Given the description of an element on the screen output the (x, y) to click on. 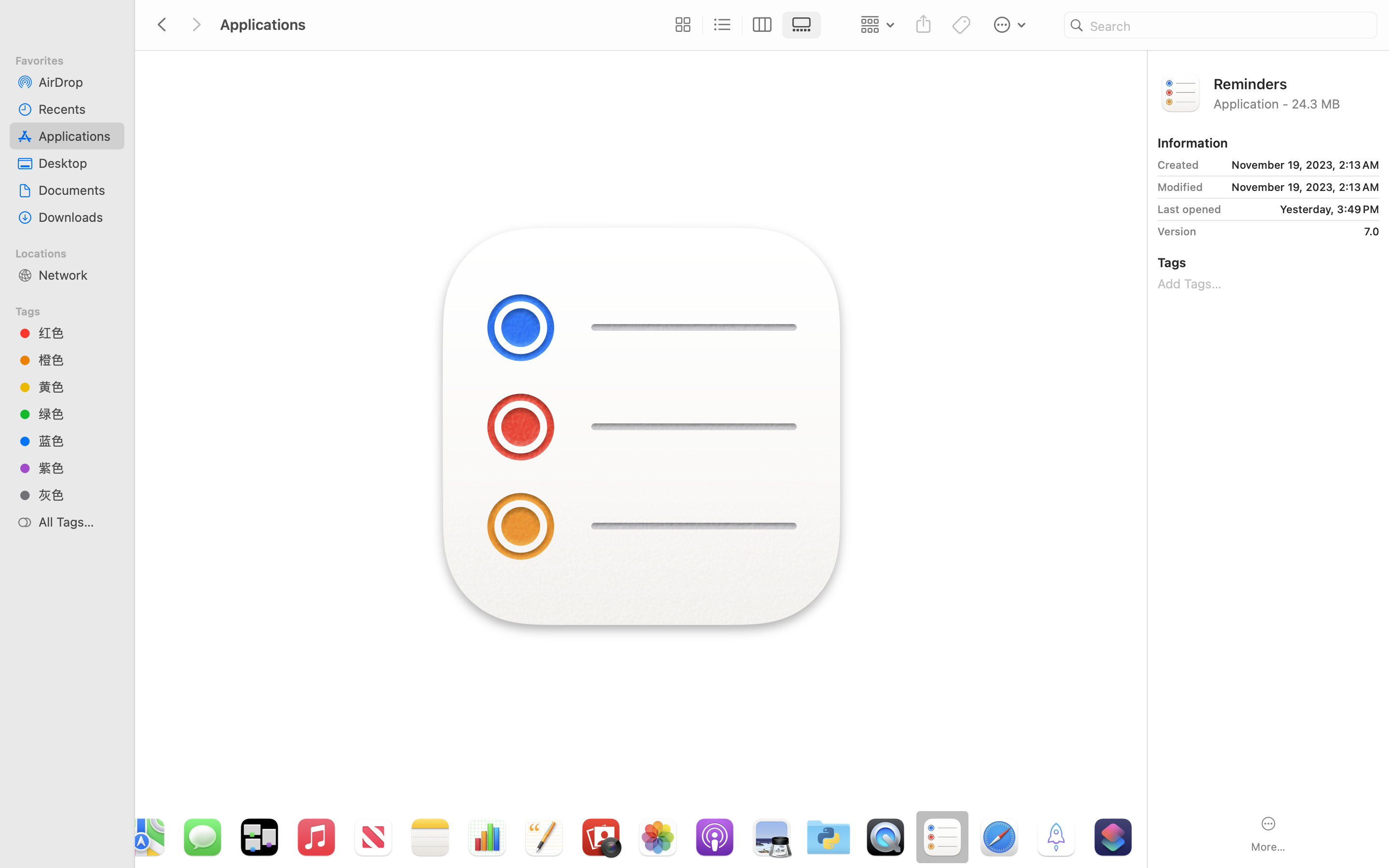
Network Element type: AXStaticText (77, 274)
Tags Element type: AXStaticText (72, 309)
紫色 Element type: AXStaticText (77, 467)
All Tags… Element type: AXStaticText (77, 521)
红色 Element type: AXStaticText (77, 332)
